Given the description of an element on the screen output the (x, y) to click on. 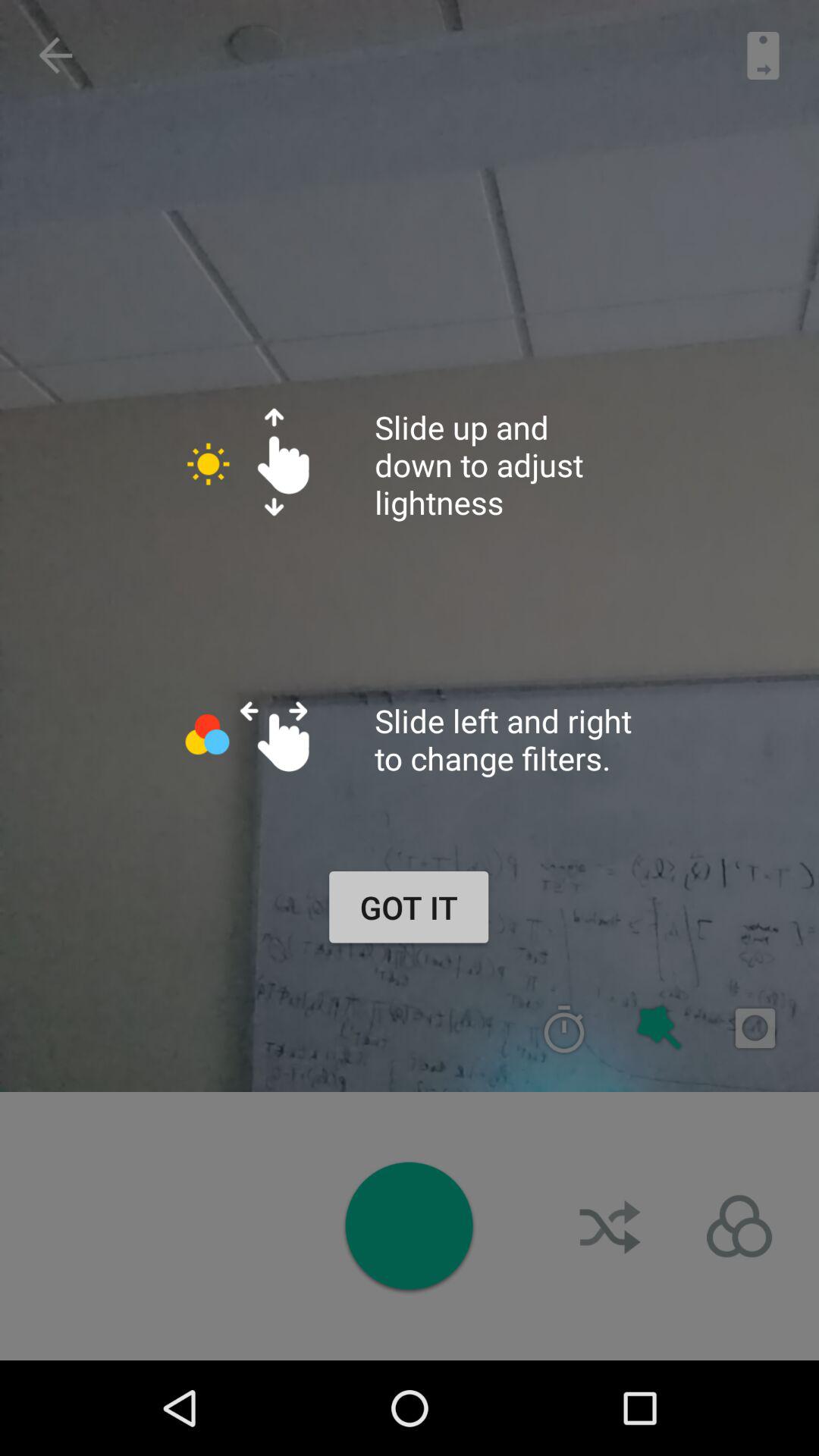
clock page (563, 1028)
